Given the description of an element on the screen output the (x, y) to click on. 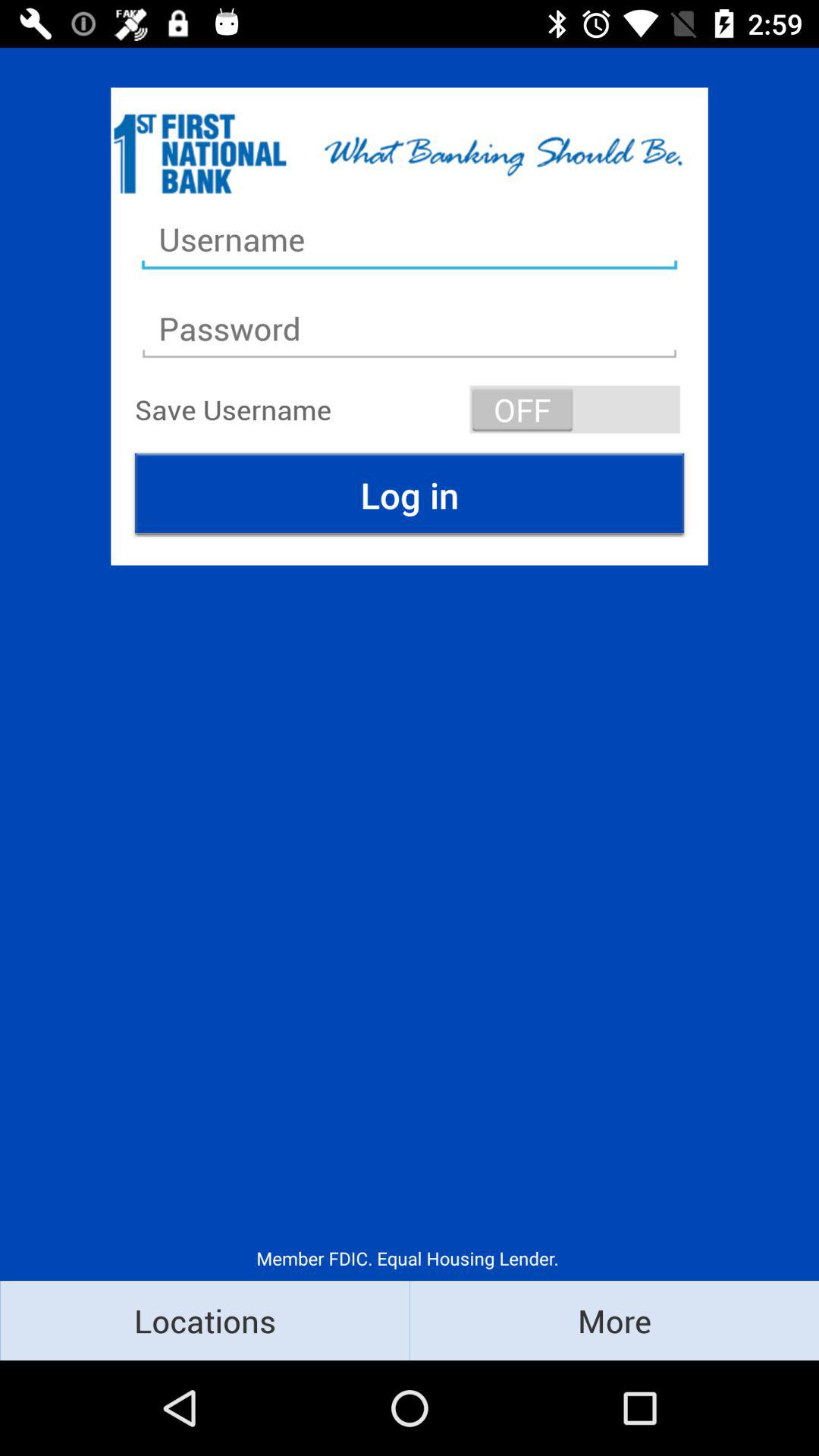
launch the icon below member fdic equal icon (204, 1320)
